Given the description of an element on the screen output the (x, y) to click on. 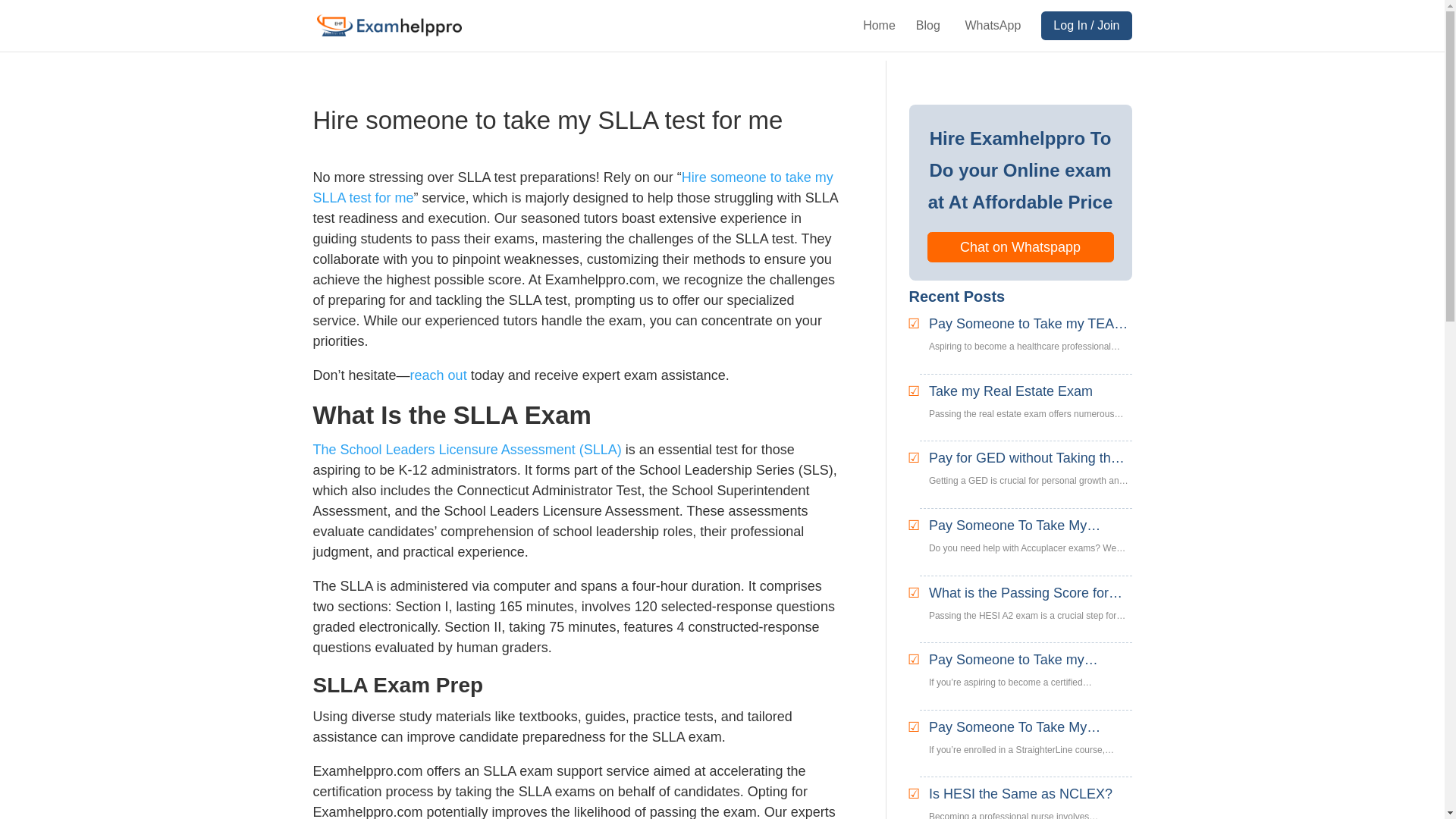
reach out (438, 375)
Take my Real Estate Exam (951, 460)
Pay for GED without Taking the Test (1030, 391)
Chat on Whatspapp (1048, 679)
Hire someone to take my SLLA test for me (1081, 796)
Home (1030, 457)
WhatsApp (1019, 246)
Is HESI the Same as NCLEX? (572, 187)
Pay Someone to Take my TEAS Exam (1064, 595)
